Given the description of an element on the screen output the (x, y) to click on. 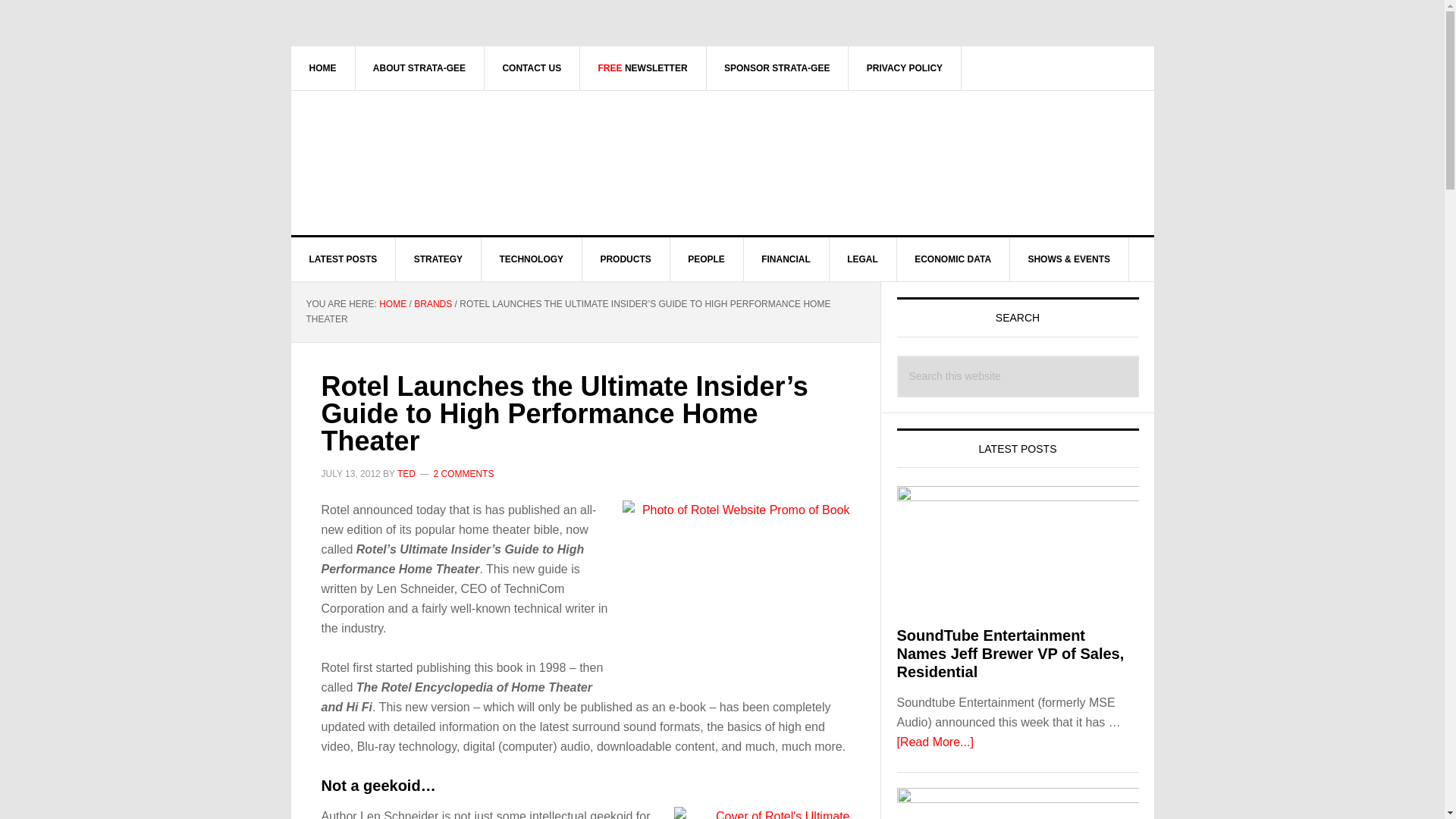
FREE NEWSLETTER (642, 67)
BRANDS (432, 303)
2 COMMENTS (462, 473)
RotelGuideCover (760, 812)
HOME (323, 67)
TED (405, 473)
STRATA-GEE.COM (419, 155)
TECHNOLOGY (531, 259)
RotelWebsitePromoCrppd (734, 581)
STRATEGY (438, 259)
